Given the description of an element on the screen output the (x, y) to click on. 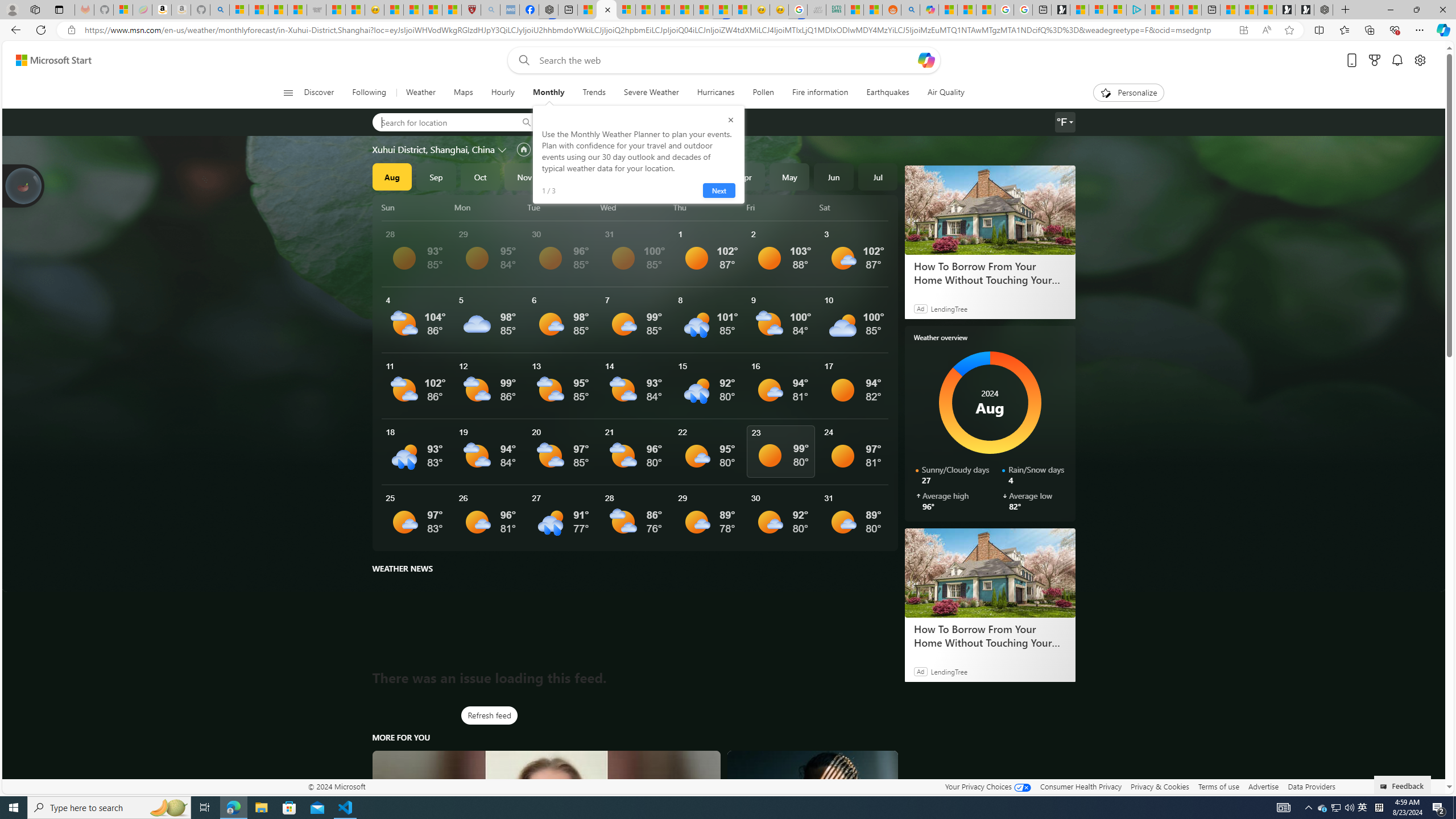
Wed (634, 207)
Privacy & Cookies (1160, 785)
Fire information (820, 92)
Combat Siege (315, 9)
Your Privacy Choices (987, 785)
